Given the description of an element on the screen output the (x, y) to click on. 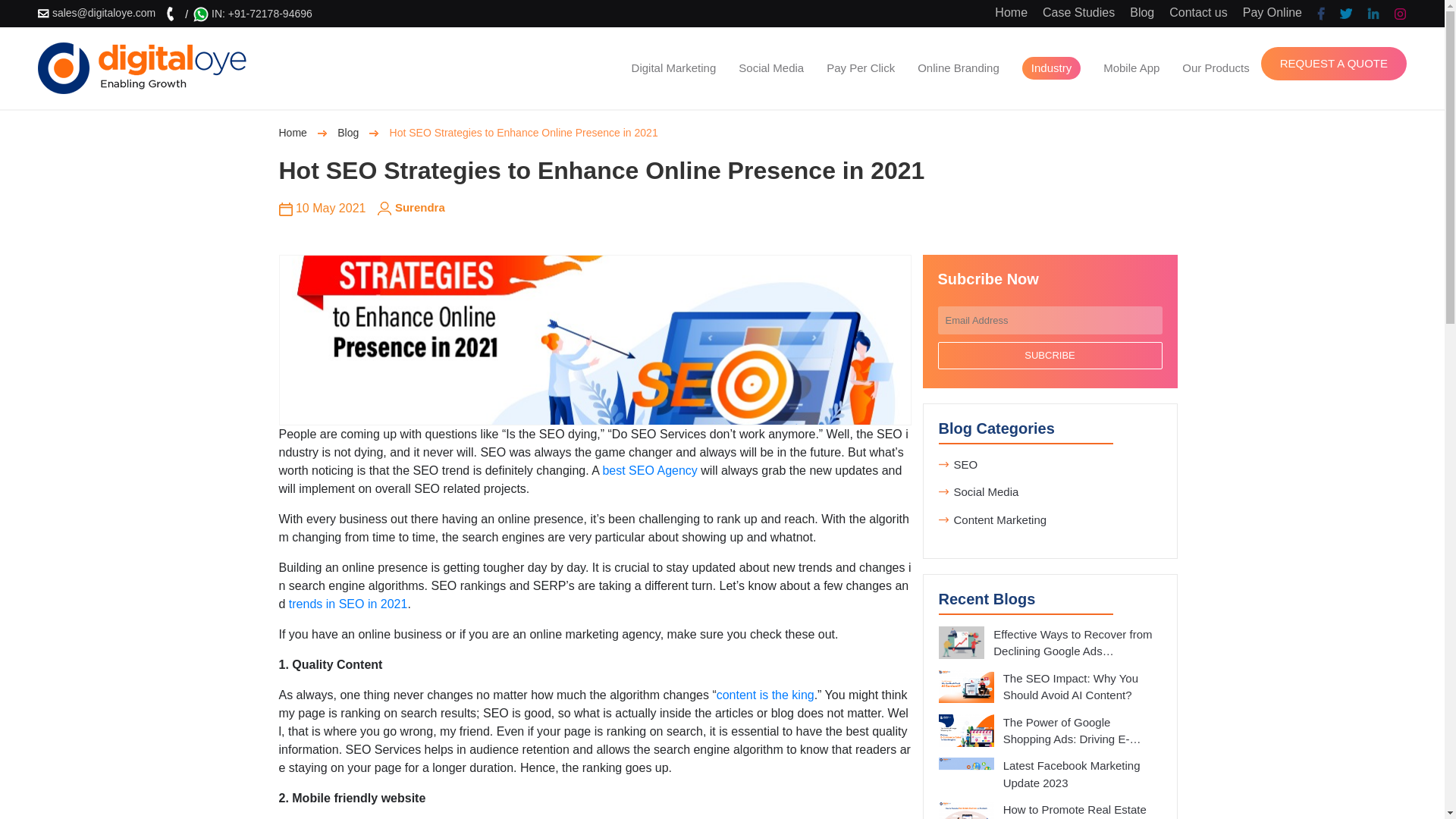
Contact us (1198, 11)
Case Studies (1078, 11)
Subcribe (1049, 355)
Home (1010, 11)
Digital Marketing (674, 67)
Pay Per Click (860, 67)
Hot SEO Strategies to Enhance Online Presence in 2021 (595, 339)
Social Media (770, 67)
Blog (1141, 11)
Pay Online (1272, 11)
